Given the description of an element on the screen output the (x, y) to click on. 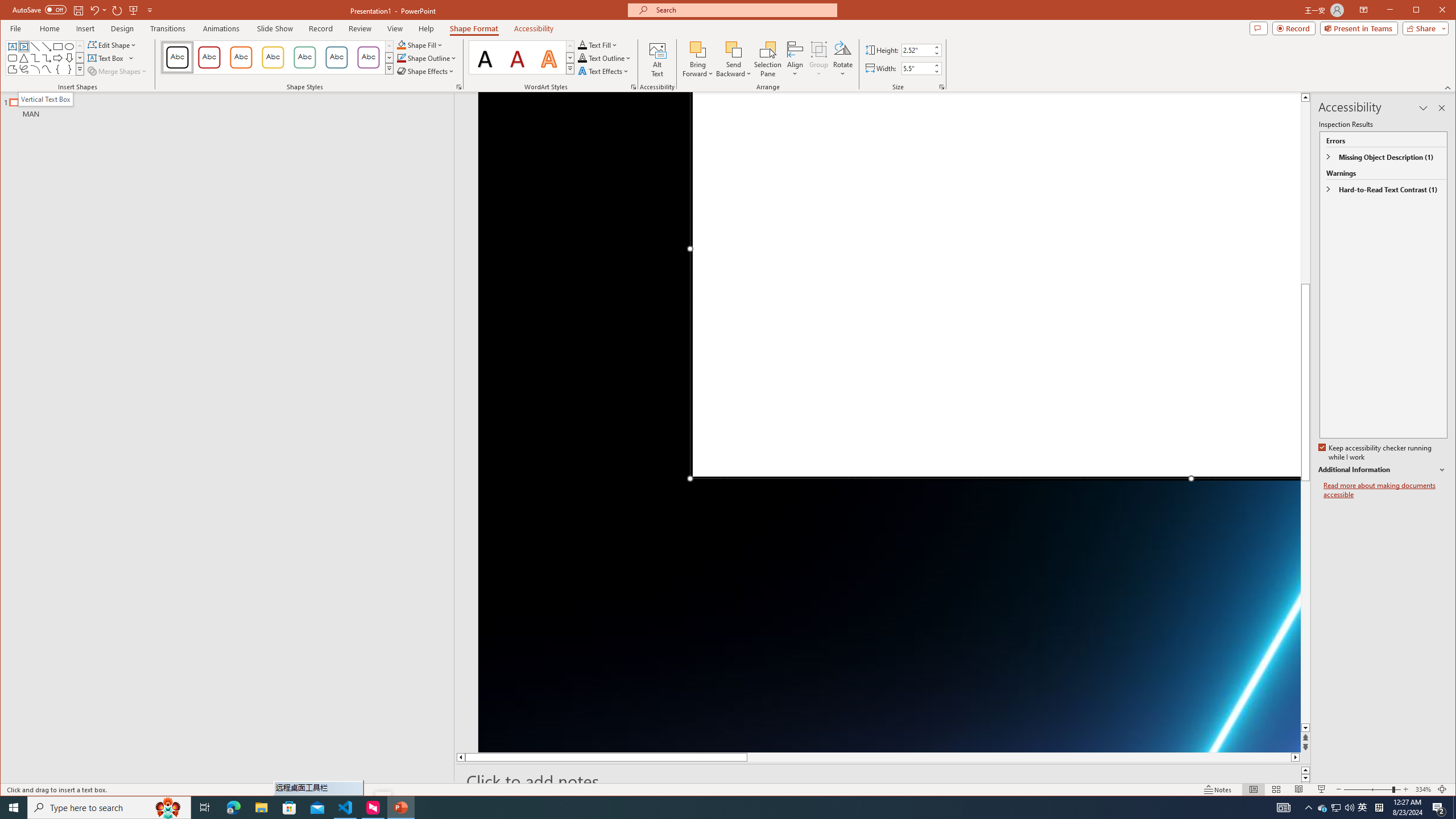
Colored Outline - Dark Red, Accent 1 (209, 57)
Edit Shape (112, 44)
